Given the description of an element on the screen output the (x, y) to click on. 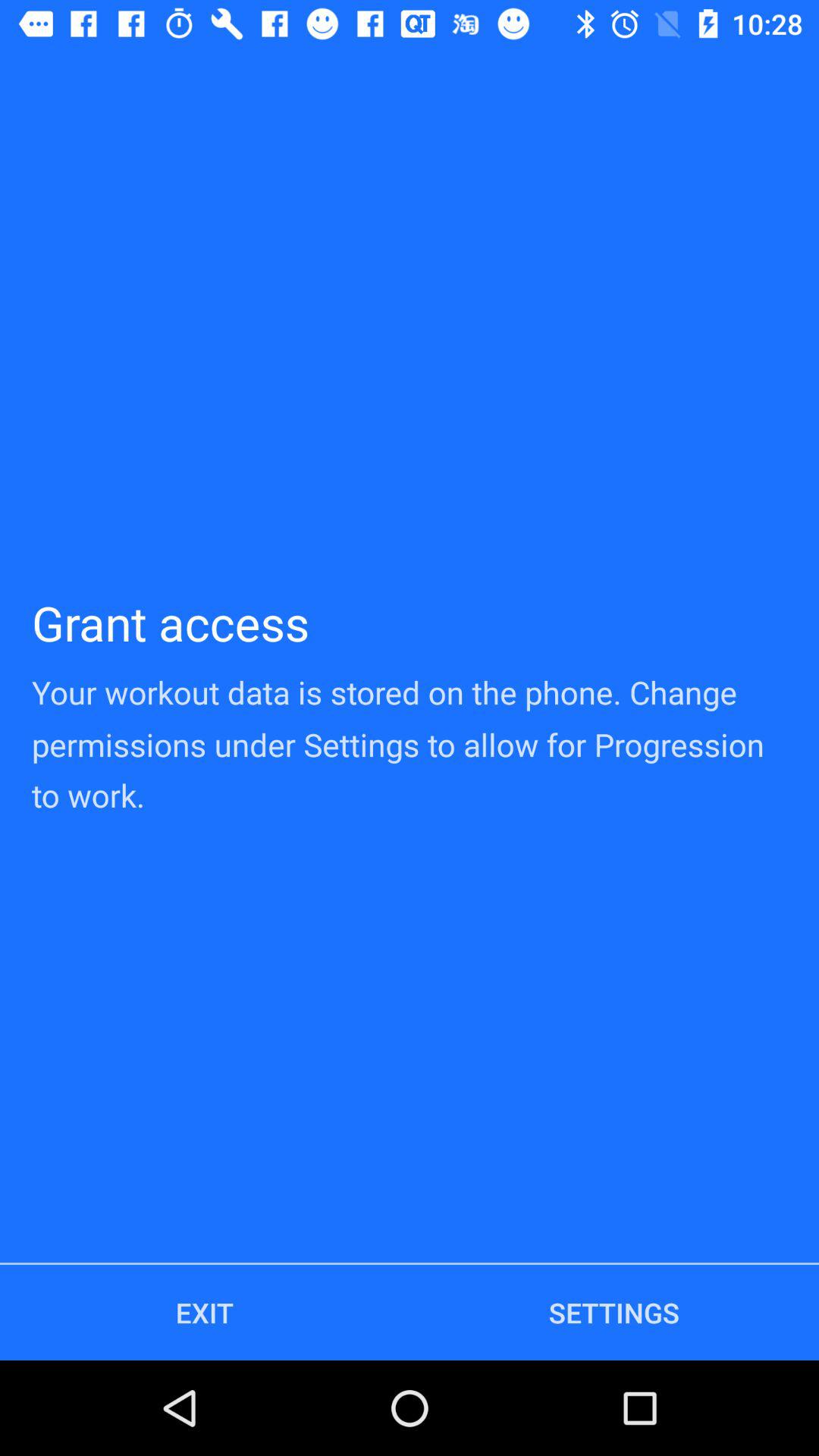
click icon to the left of the settings item (204, 1312)
